Given the description of an element on the screen output the (x, y) to click on. 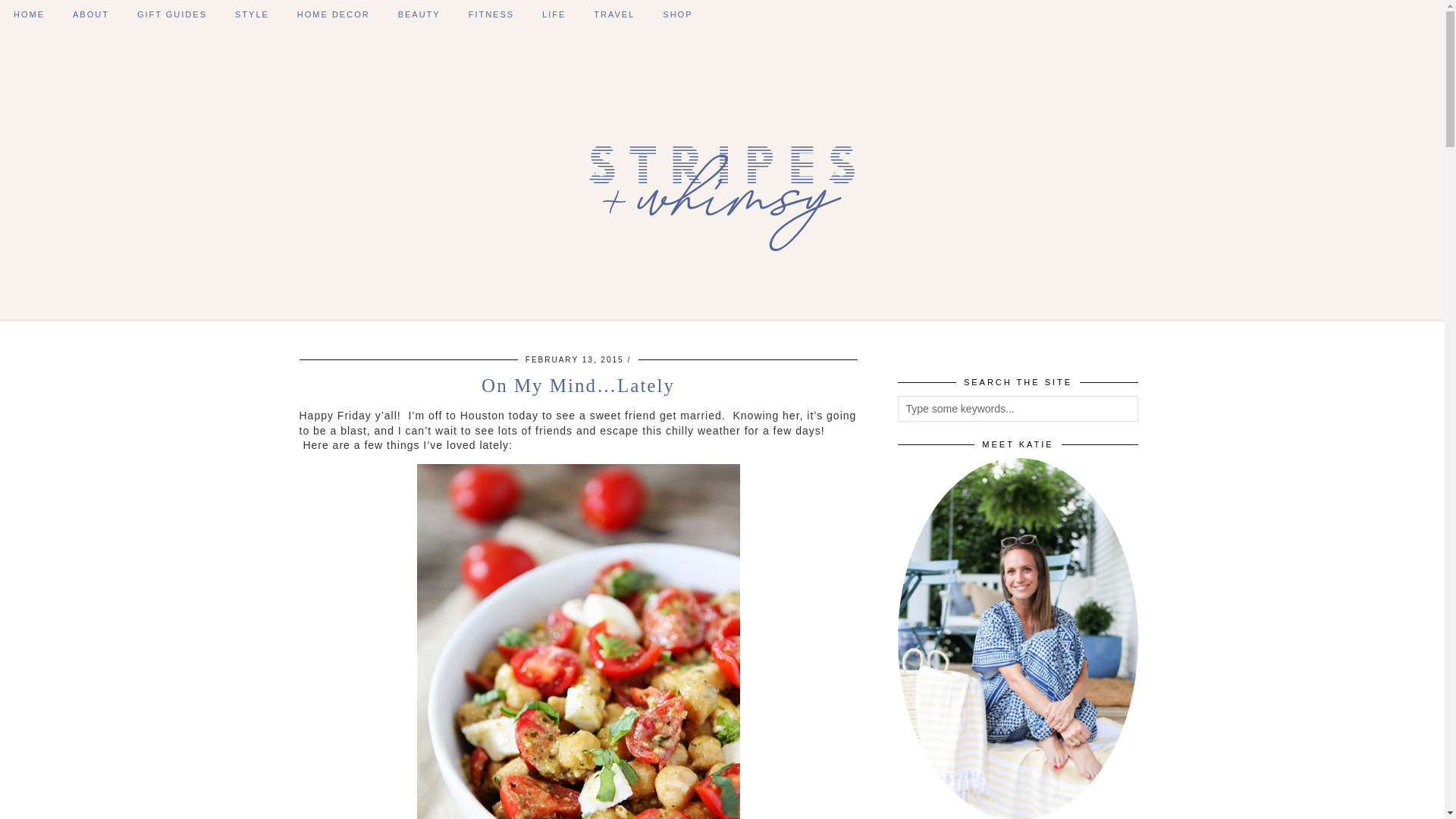
HOME DECOR (333, 14)
ABOUT (90, 14)
GIFT GUIDES (172, 14)
FITNESS (490, 14)
HOME (29, 14)
LIFE (553, 14)
STYLE (251, 14)
BEAUTY (419, 14)
